Given the description of an element on the screen output the (x, y) to click on. 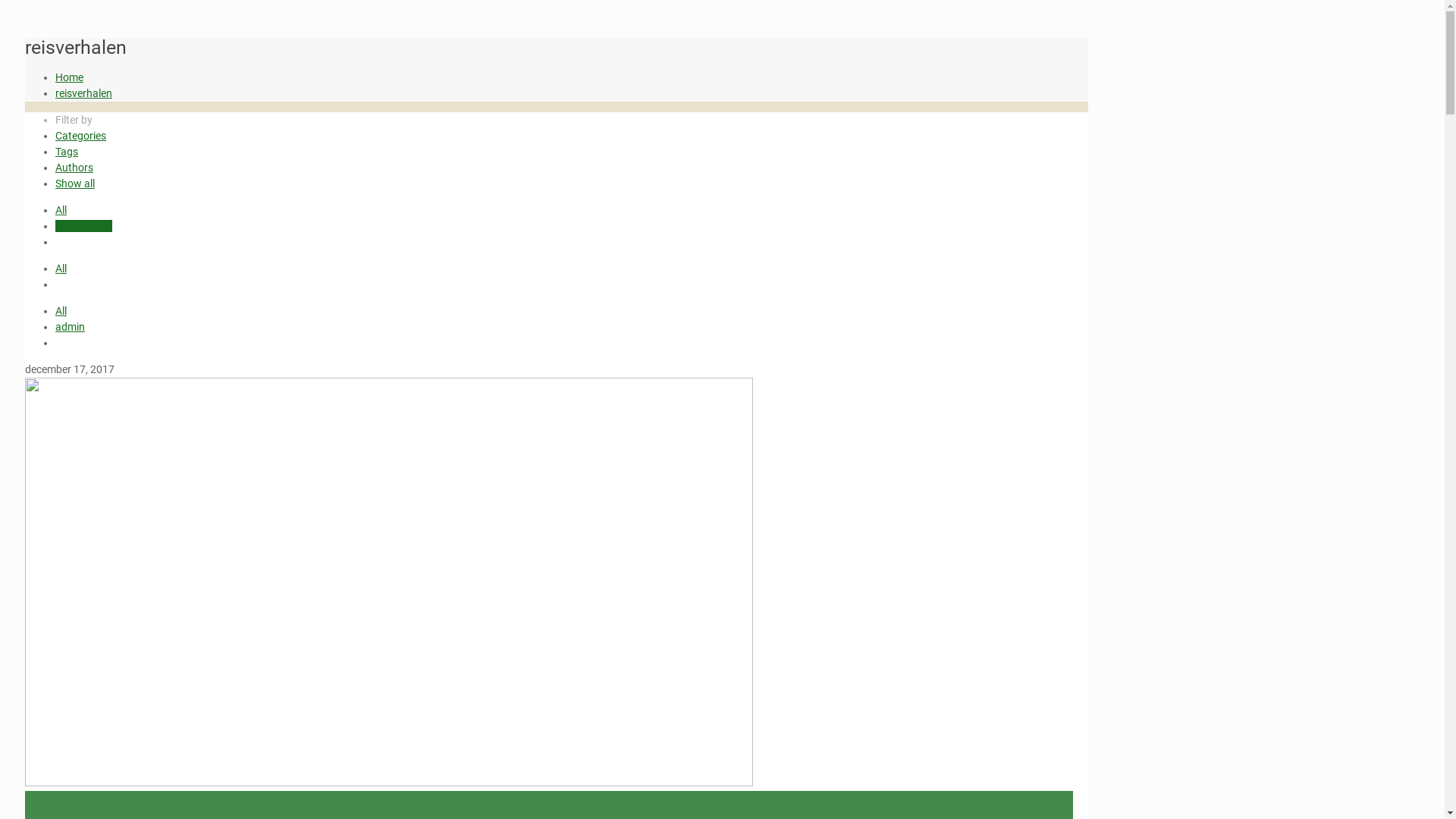
Categories Element type: text (80, 134)
Home Element type: text (69, 77)
reisverhalen Element type: text (83, 92)
Authors Element type: text (74, 166)
reisverhalen Element type: text (83, 225)
All Element type: text (60, 268)
Show all Element type: text (74, 183)
Tags Element type: text (66, 151)
All Element type: text (60, 310)
admin Element type: text (69, 326)
All Element type: text (60, 209)
